Given the description of an element on the screen output the (x, y) to click on. 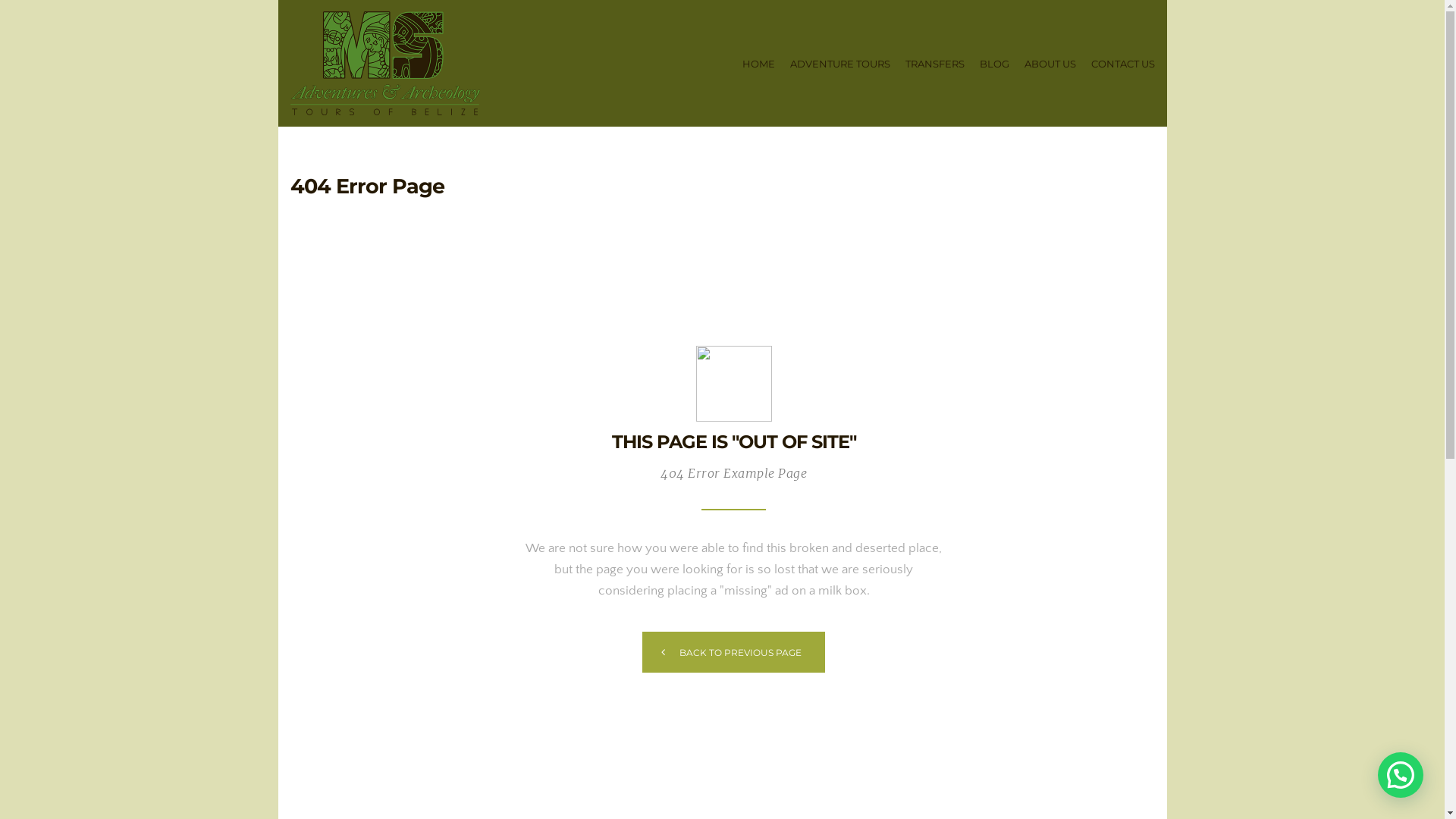
TRANSFERS Element type: text (934, 62)
  BACK TO PREVIOUS PAGE   Element type: text (733, 650)
ABOUT US Element type: text (1049, 62)
BLOG Element type: text (994, 62)
CONTACT US Element type: text (1122, 62)
HOME Element type: text (757, 62)
ADVENTURE TOURS Element type: text (840, 62)
